Given the description of an element on the screen output the (x, y) to click on. 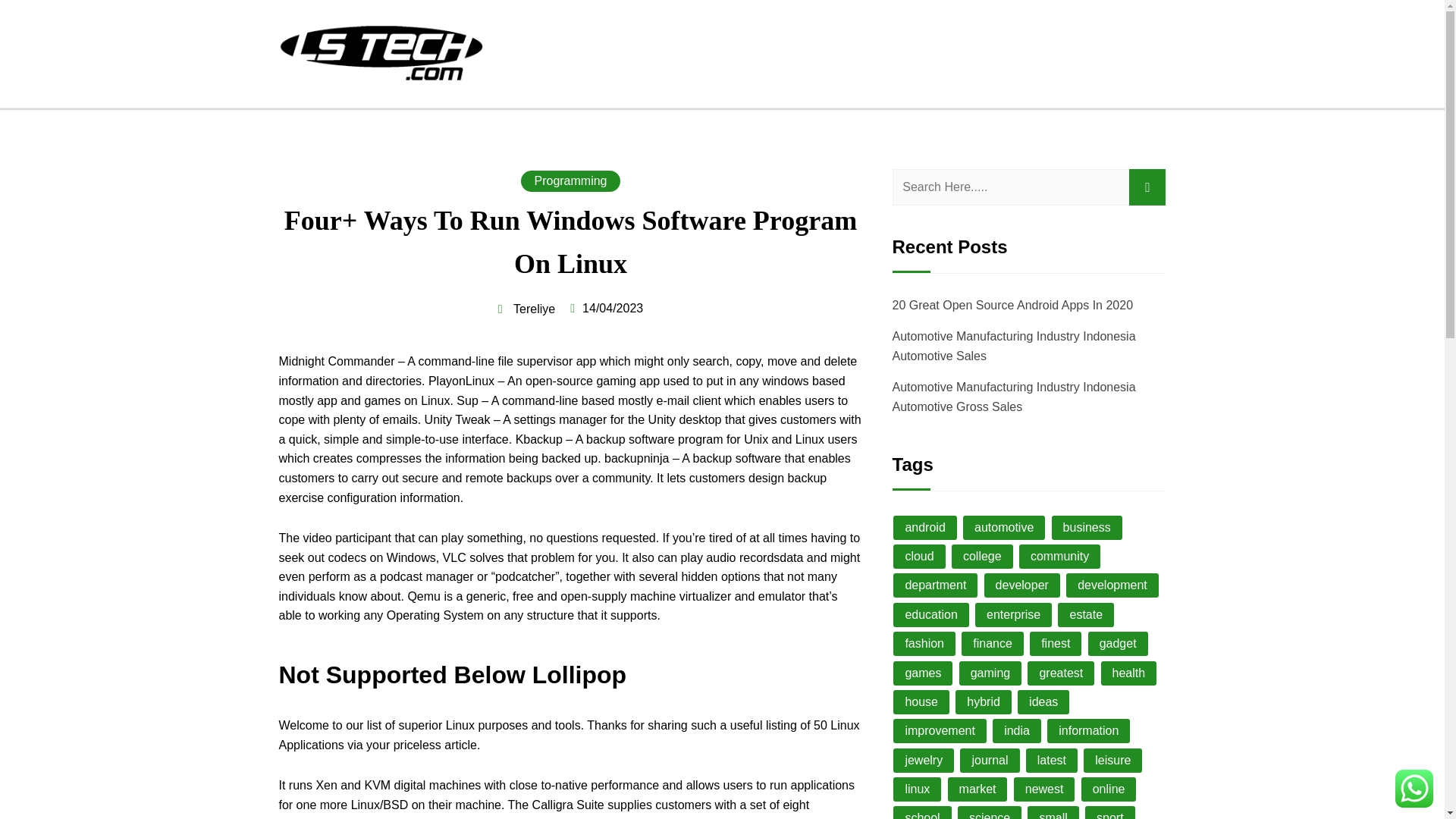
cloud (918, 556)
college (982, 556)
automotive (1003, 527)
development (1111, 585)
USTN (299, 104)
GRAPHIC DESIGN (1102, 41)
Tereliye (525, 308)
business (1086, 527)
Automotive Manufacturing Industry Indonesia Automotive Sales (1013, 346)
community (1059, 556)
GADGETS (690, 41)
Programming (570, 180)
SOFTWARE (990, 41)
android (924, 527)
NETWORK (778, 41)
